Given the description of an element on the screen output the (x, y) to click on. 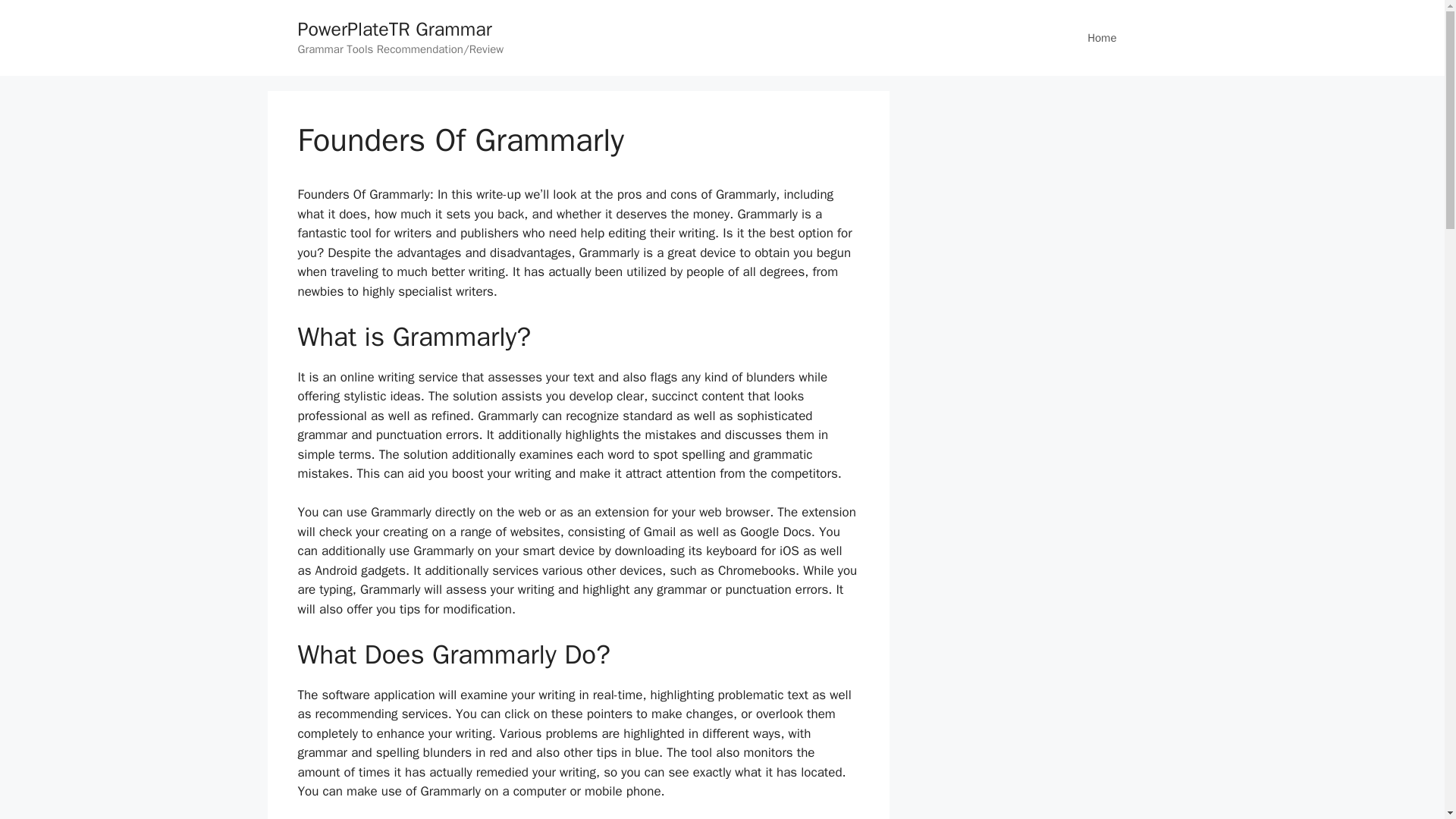
Home (1101, 37)
PowerPlateTR Grammar (394, 28)
